Given the description of an element on the screen output the (x, y) to click on. 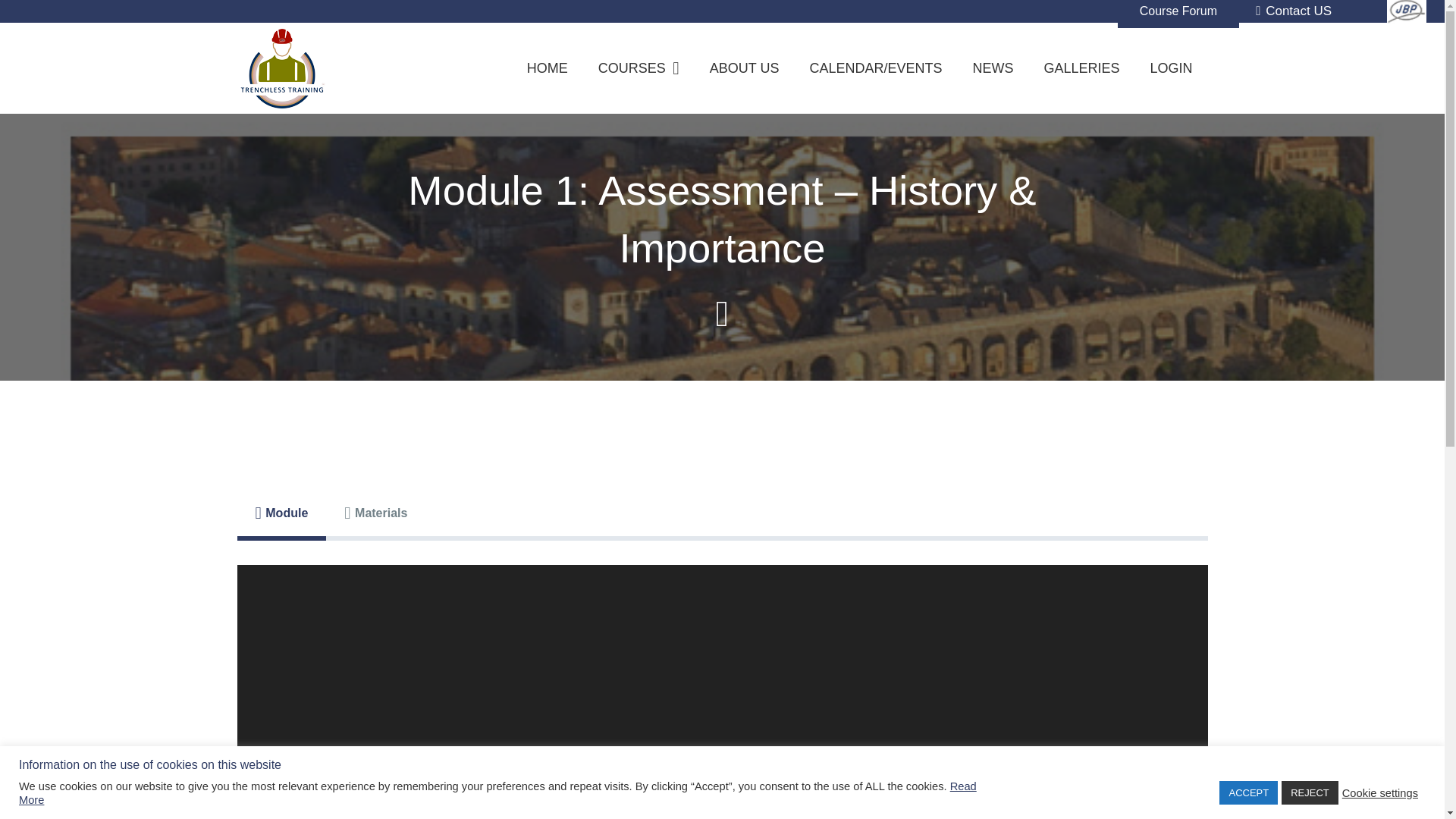
LOGIN (1170, 67)
Legal Notice (641, 723)
Cookies Policy (885, 723)
COURSES (638, 67)
ACCEPT (1249, 792)
Module (280, 512)
Course Forum (1178, 14)
REJECT (1309, 792)
ABOUT US (744, 67)
GALLERIES (1080, 67)
Contact US (1293, 11)
Privacy Policy (761, 723)
HOME (547, 67)
Contact (539, 723)
NEWS (991, 67)
